Given the description of an element on the screen output the (x, y) to click on. 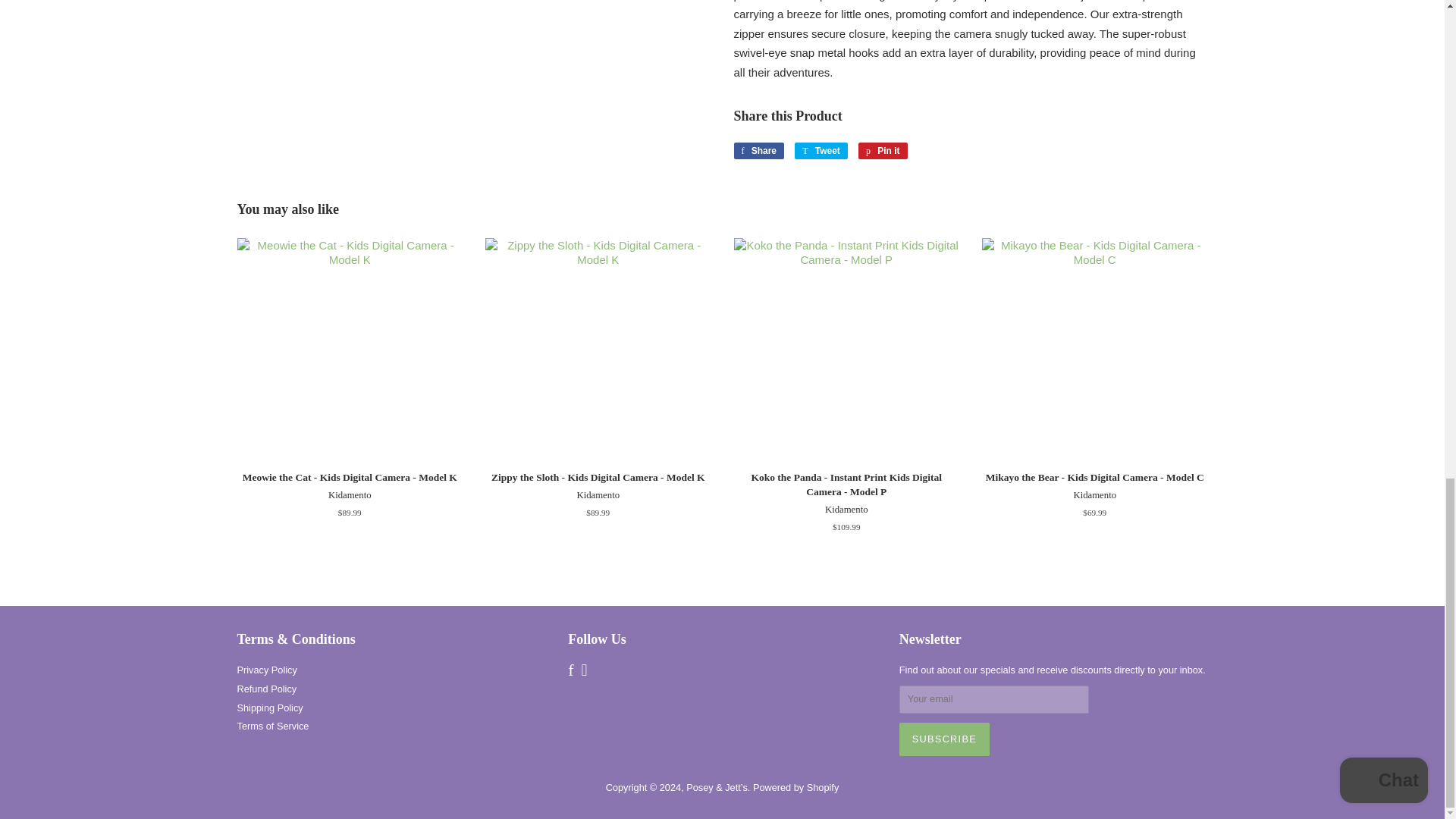
Subscribe (883, 150)
Tweet on Twitter (944, 738)
Share on Facebook (820, 150)
Pin on Pinterest (758, 150)
